Given the description of an element on the screen output the (x, y) to click on. 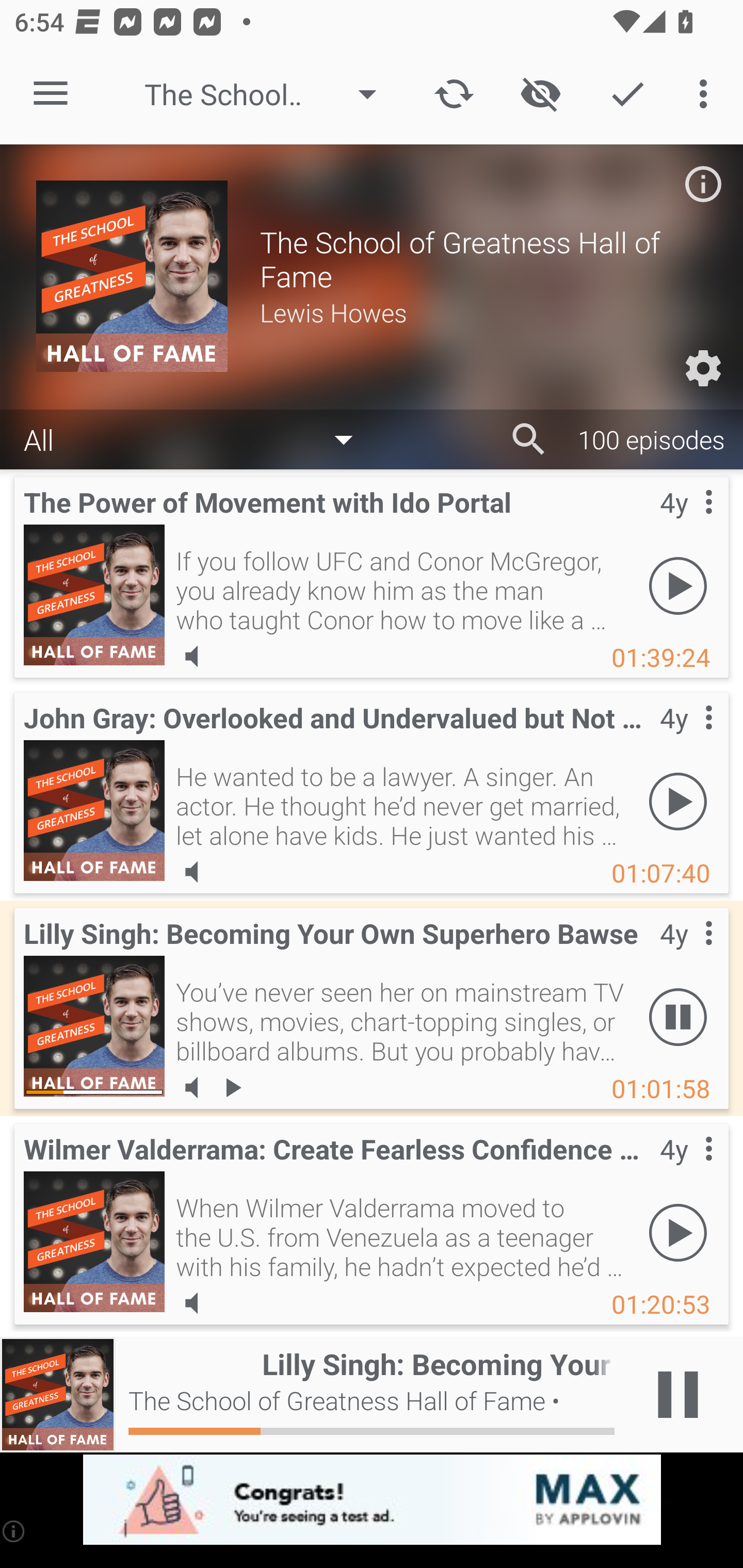
Open navigation sidebar (50, 93)
Update (453, 93)
Show / Hide played content (540, 93)
Action Mode (626, 93)
More options (706, 93)
The School of Greatness Hall of Fame (270, 94)
Podcast description (703, 184)
Lewis Howes (483, 311)
Custom Settings (703, 368)
Search (528, 439)
All (197, 438)
Contextual menu (685, 522)
The Power of Movement with Ido Portal (93, 594)
Play (677, 585)
Contextual menu (685, 738)
Play (677, 801)
Contextual menu (685, 954)
Lilly Singh: Becoming Your Own Superhero Bawse (93, 1026)
Pause (677, 1016)
Contextual menu (685, 1169)
Play (677, 1232)
Play / Pause (677, 1394)
app-monetization (371, 1500)
(i) (14, 1531)
